Given the description of an element on the screen output the (x, y) to click on. 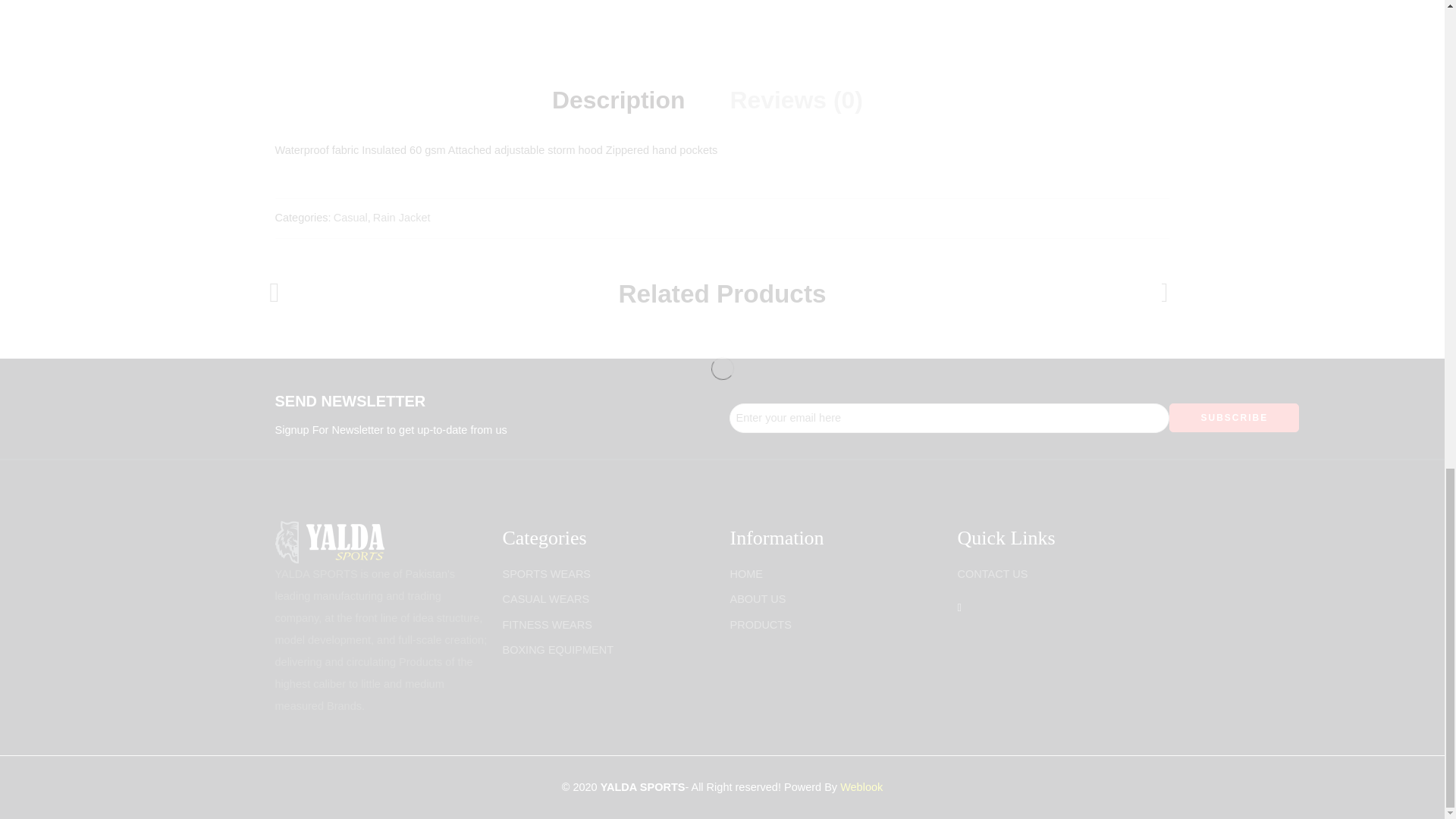
SUBSCRIBE (1233, 417)
